Given the description of an element on the screen output the (x, y) to click on. 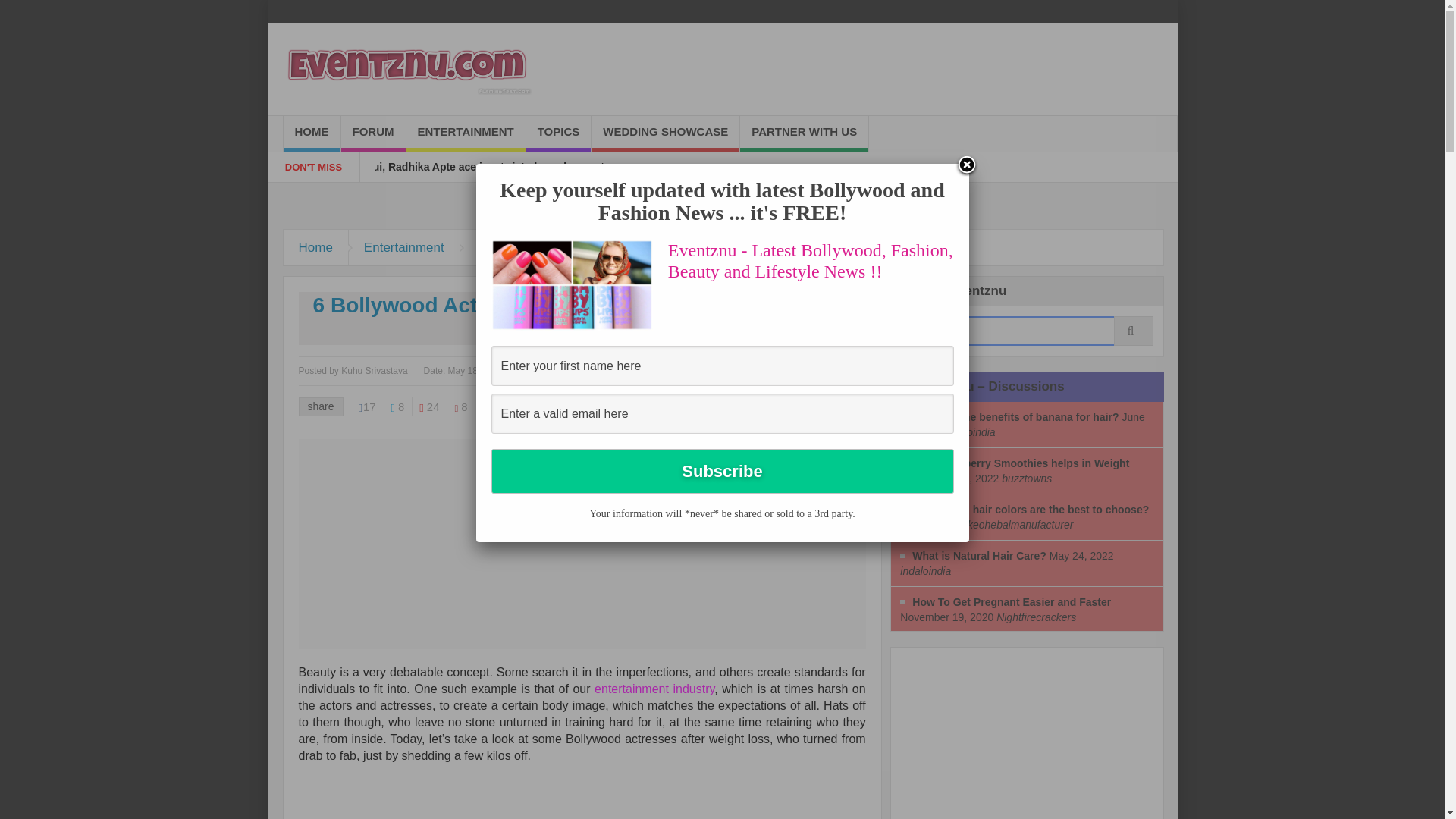
Advertisement (1014, 738)
Bollywood (505, 247)
HOME (311, 133)
ENTERTAINMENT (465, 133)
Search (1027, 330)
Entertainment (404, 247)
Close (966, 165)
TOPICS (558, 133)
Kuhu Srivastava (373, 370)
PARTNER WITH US (803, 133)
FORUM (373, 133)
Entertainment (404, 247)
Eventznu.com (406, 69)
WEDDING SHOWCASE (665, 133)
